Given the description of an element on the screen output the (x, y) to click on. 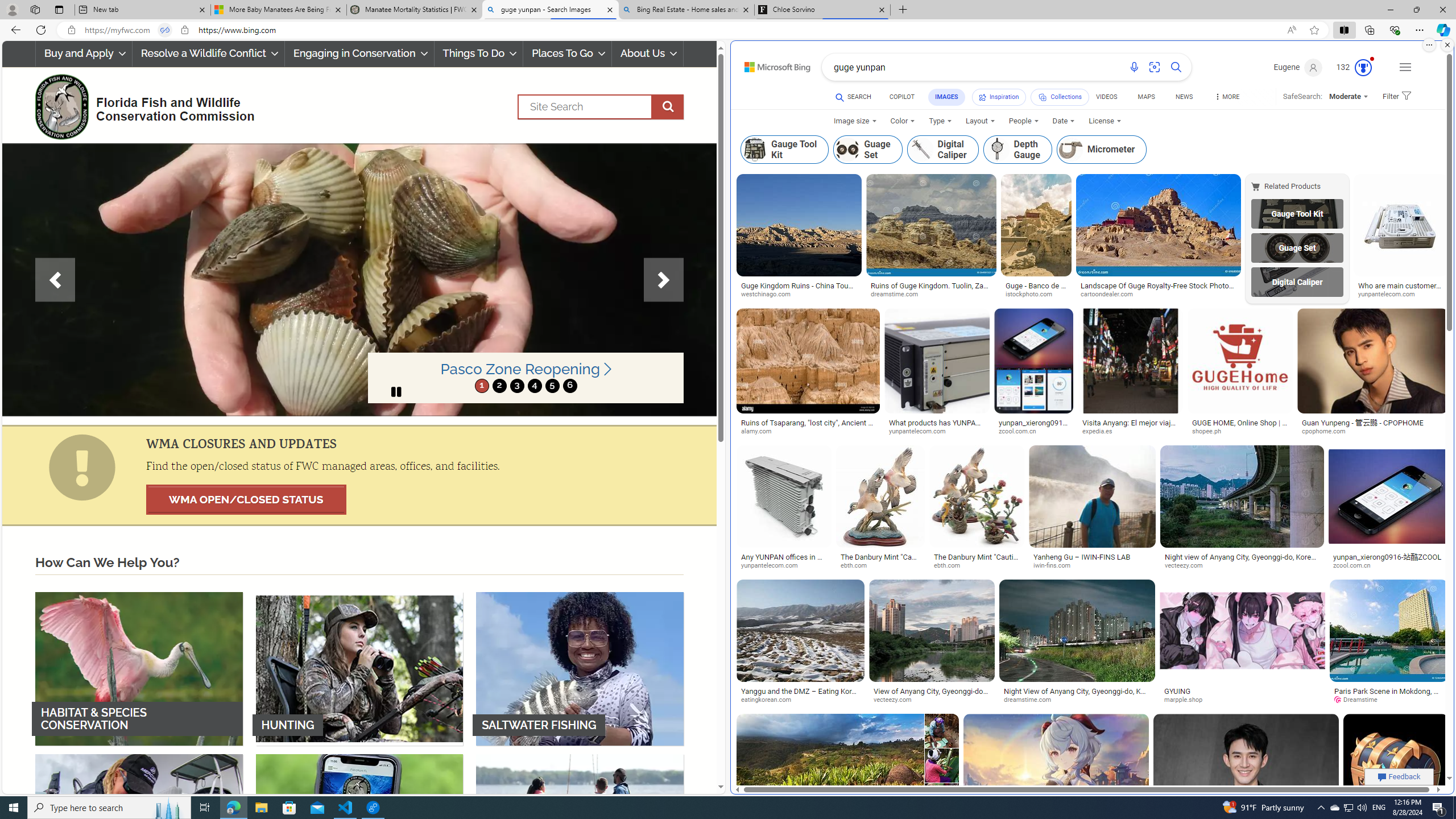
Things To Do (477, 53)
Type (939, 121)
NEWS (1183, 98)
Depth Gauge (1016, 148)
Layout (979, 121)
SEARCH (852, 96)
move to slide 3 (516, 385)
slider pause button (396, 391)
Date (1063, 121)
alamy.com (808, 431)
